Given the description of an element on the screen output the (x, y) to click on. 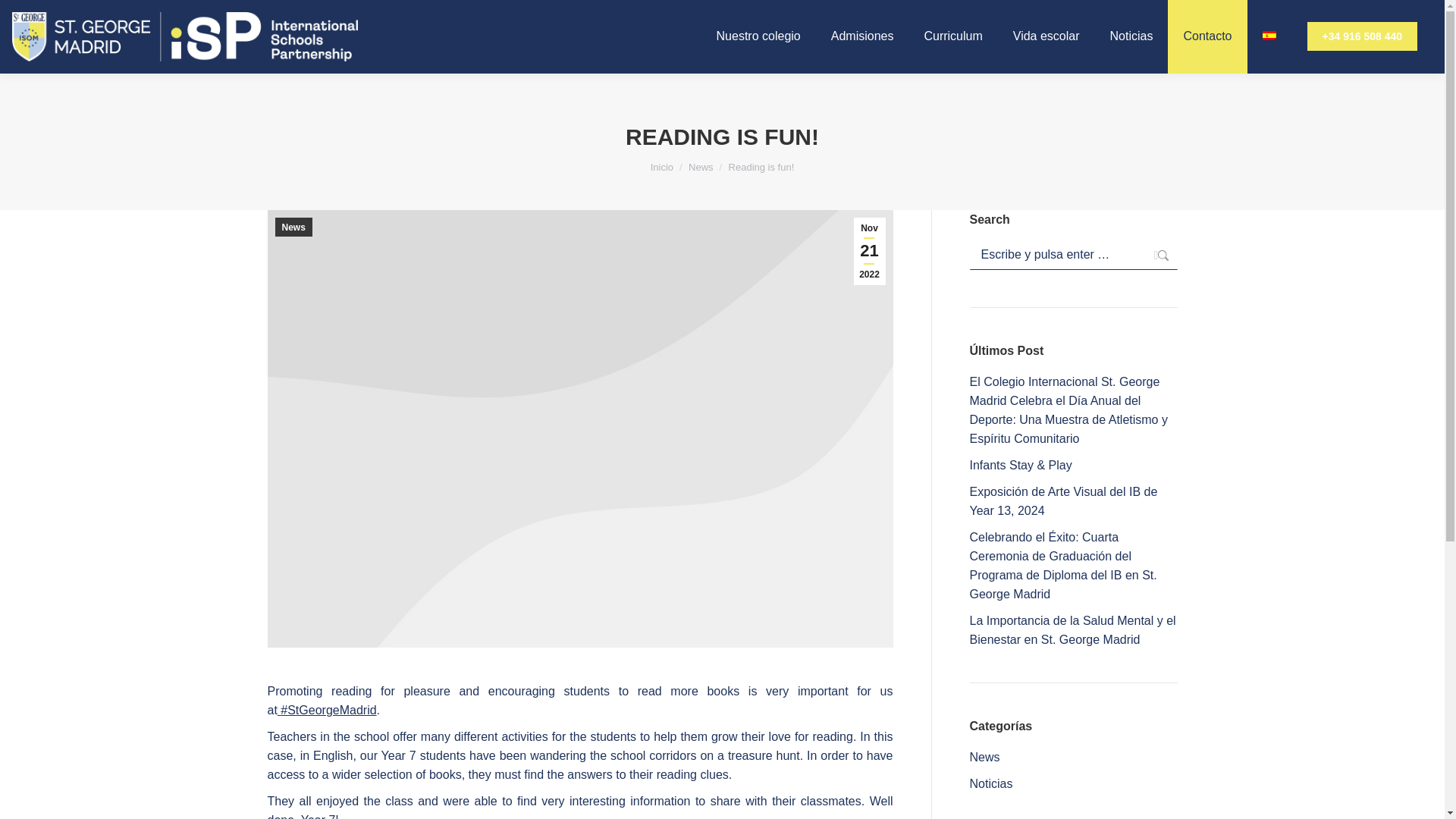
Curriculum (952, 36)
Admisiones (862, 36)
Ir! (1153, 255)
Ir! (1153, 255)
Vida escolar (1046, 36)
Contacto (1206, 36)
Noticias (1131, 36)
Nuestro colegio (758, 36)
